Given the description of an element on the screen output the (x, y) to click on. 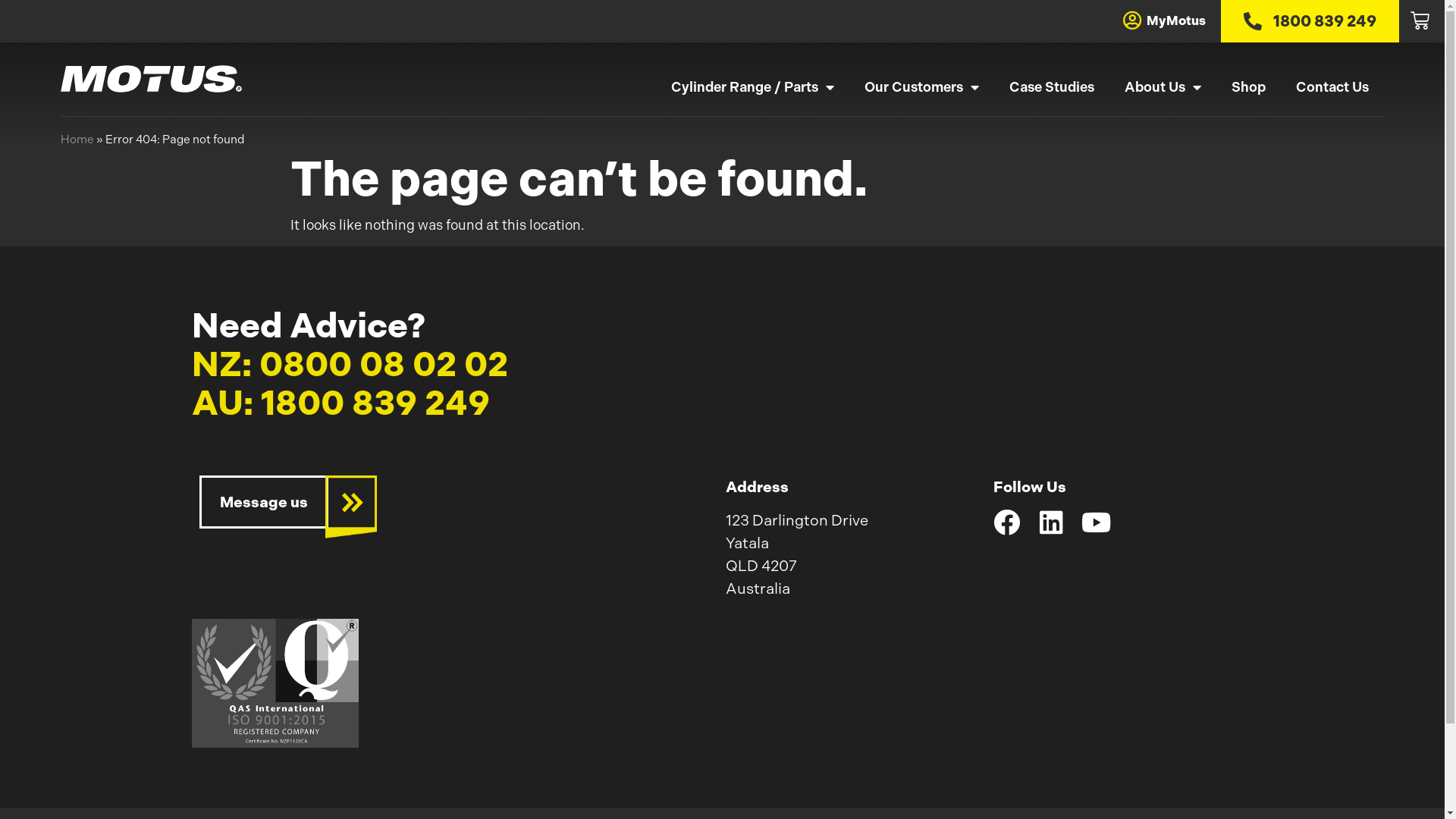
Contact Us Element type: text (1331, 86)
1800 839 249 Element type: text (1309, 21)
NZ: 0800 08 02 02 Element type: text (349, 364)
Message us Element type: text (262, 501)
Our Customers Element type: text (921, 86)
Shop Element type: text (1248, 86)
Cylinder Range / Parts Element type: text (752, 86)
MyMotus Element type: text (1175, 20)
Case Studies Element type: text (1051, 86)
Home Element type: text (77, 139)
About Us Element type: text (1162, 86)
AU: 1800 839 249 Element type: text (340, 402)
